Given the description of an element on the screen output the (x, y) to click on. 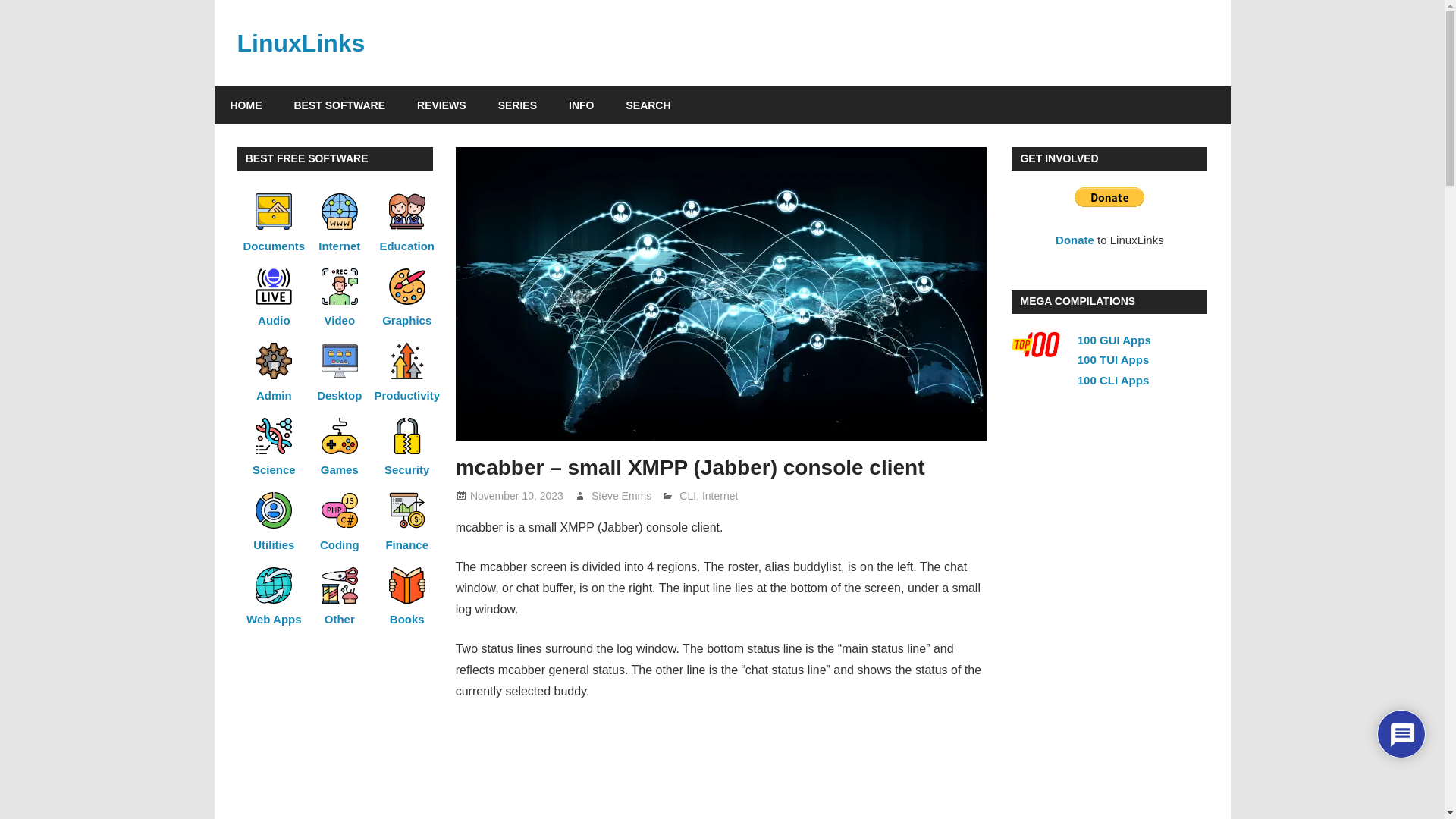
Steve Emms (620, 495)
REVIEWS (441, 105)
LinuxLinks (300, 42)
Internet (719, 495)
BEST SOFTWARE (339, 105)
Advertisement (722, 769)
View all posts by Steve Emms (620, 495)
SERIES (517, 105)
November 10, 2023 (516, 495)
CLI (687, 495)
INFO (581, 105)
SEARCH (647, 105)
8:09 am (516, 495)
HOME (246, 105)
